Given the description of an element on the screen output the (x, y) to click on. 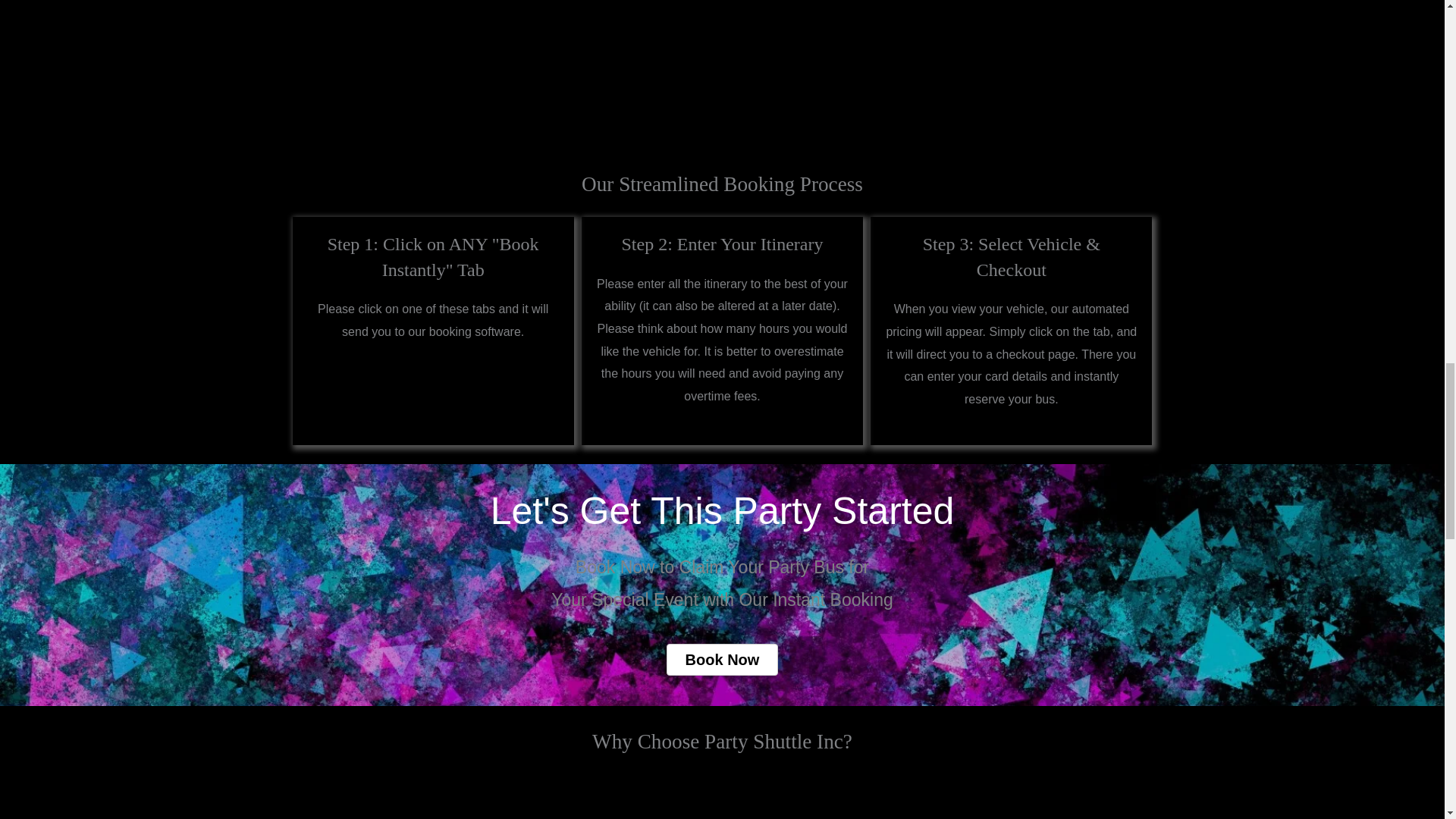
YouTube video player (721, 55)
